Given the description of an element on the screen output the (x, y) to click on. 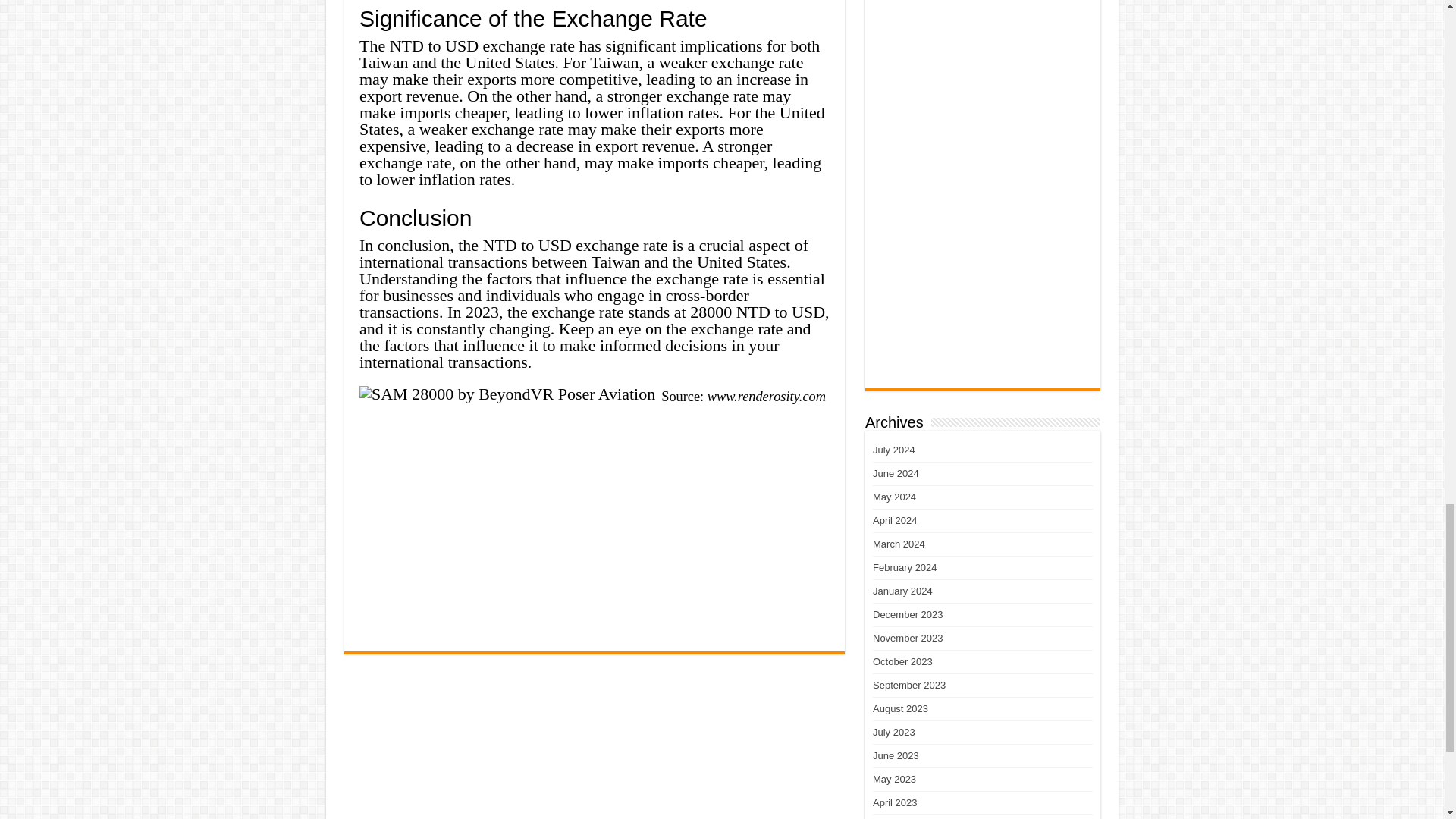
April 2024 (894, 520)
May 2024 (893, 496)
July 2024 (893, 449)
June 2024 (895, 473)
